Given the description of an element on the screen output the (x, y) to click on. 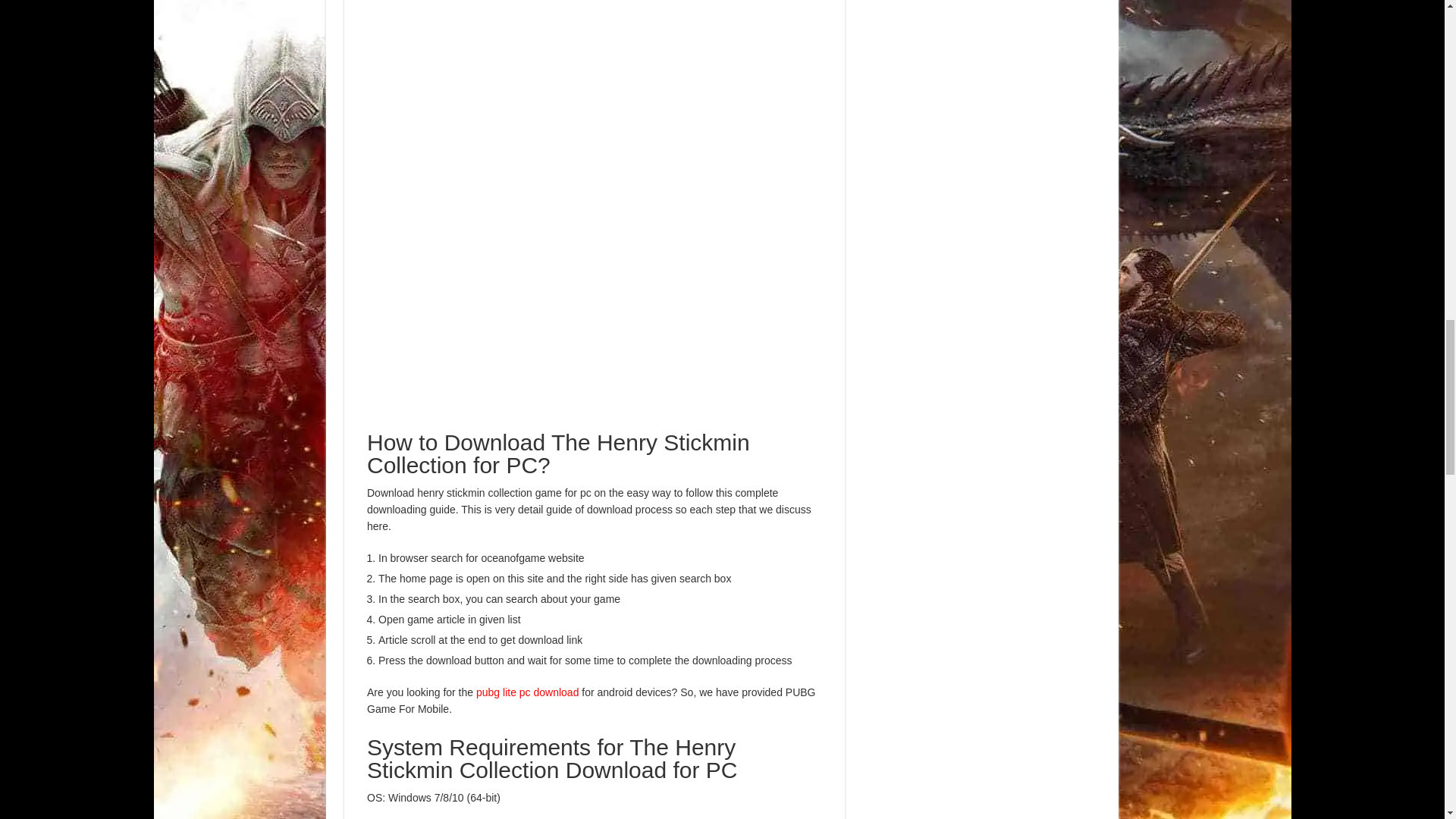
pubg lite pc download (525, 692)
